Given the description of an element on the screen output the (x, y) to click on. 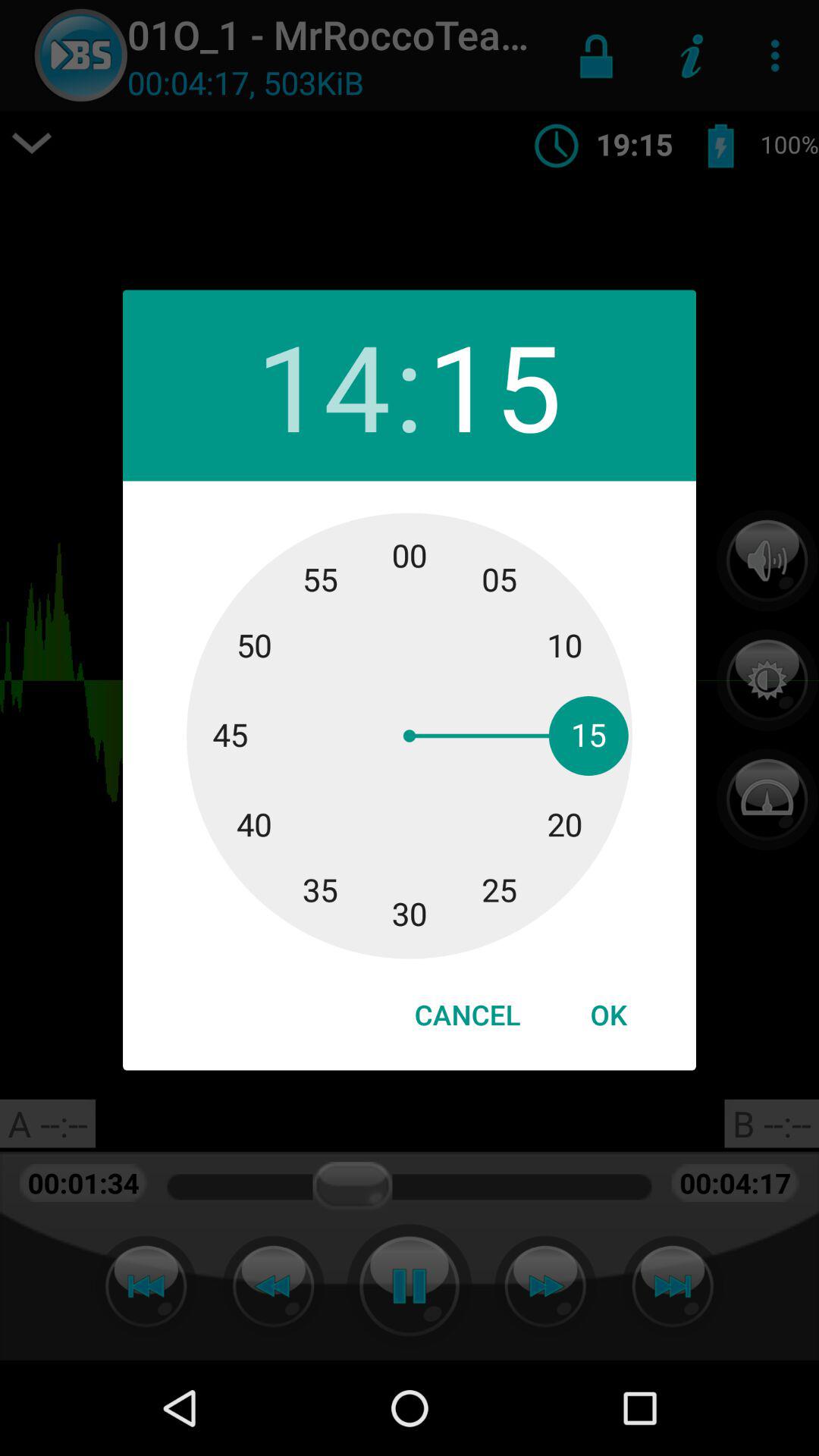
launch 14 item (323, 384)
